Given the description of an element on the screen output the (x, y) to click on. 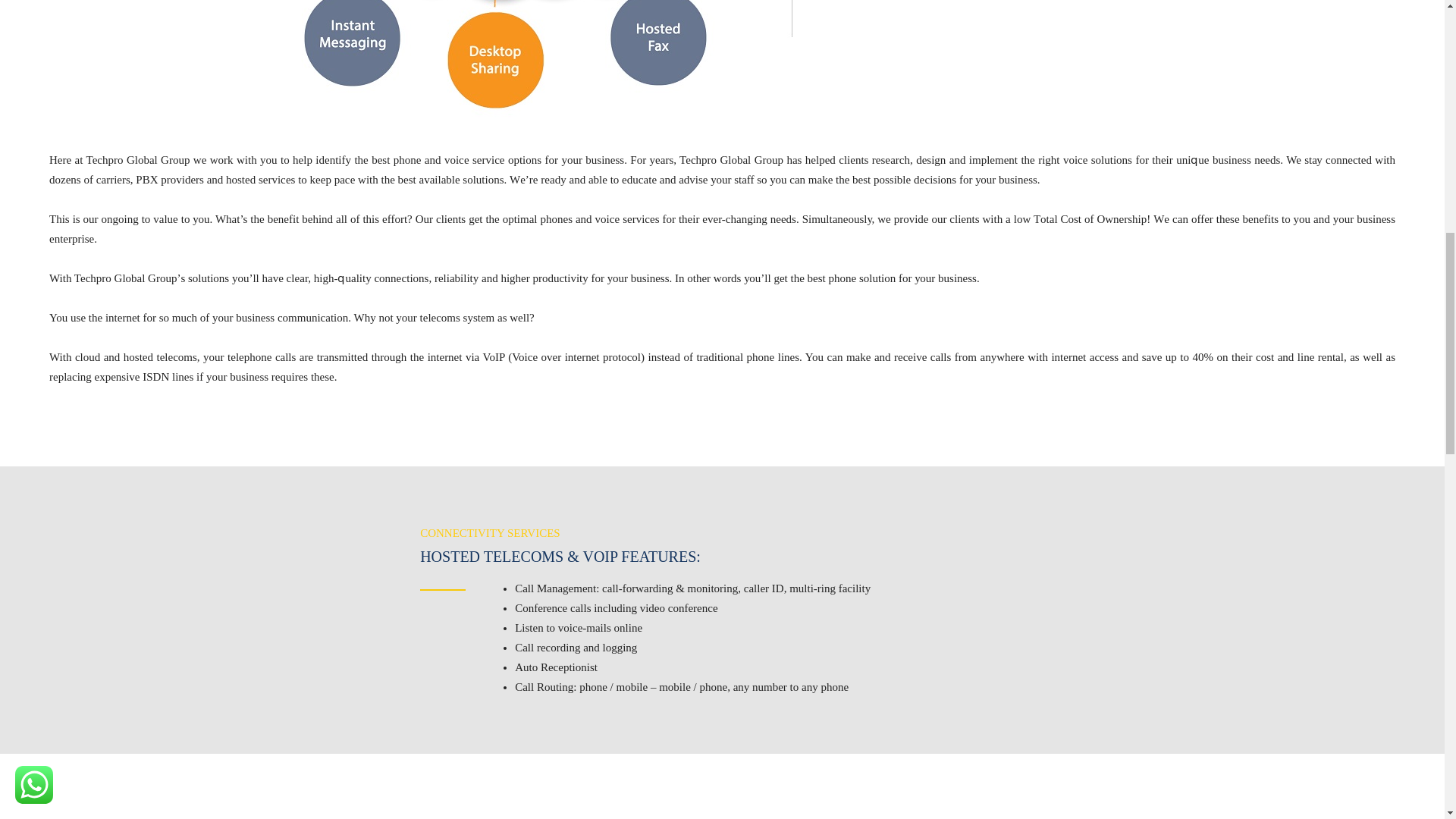
Cloud-communication-GH (722, 61)
